Given the description of an element on the screen output the (x, y) to click on. 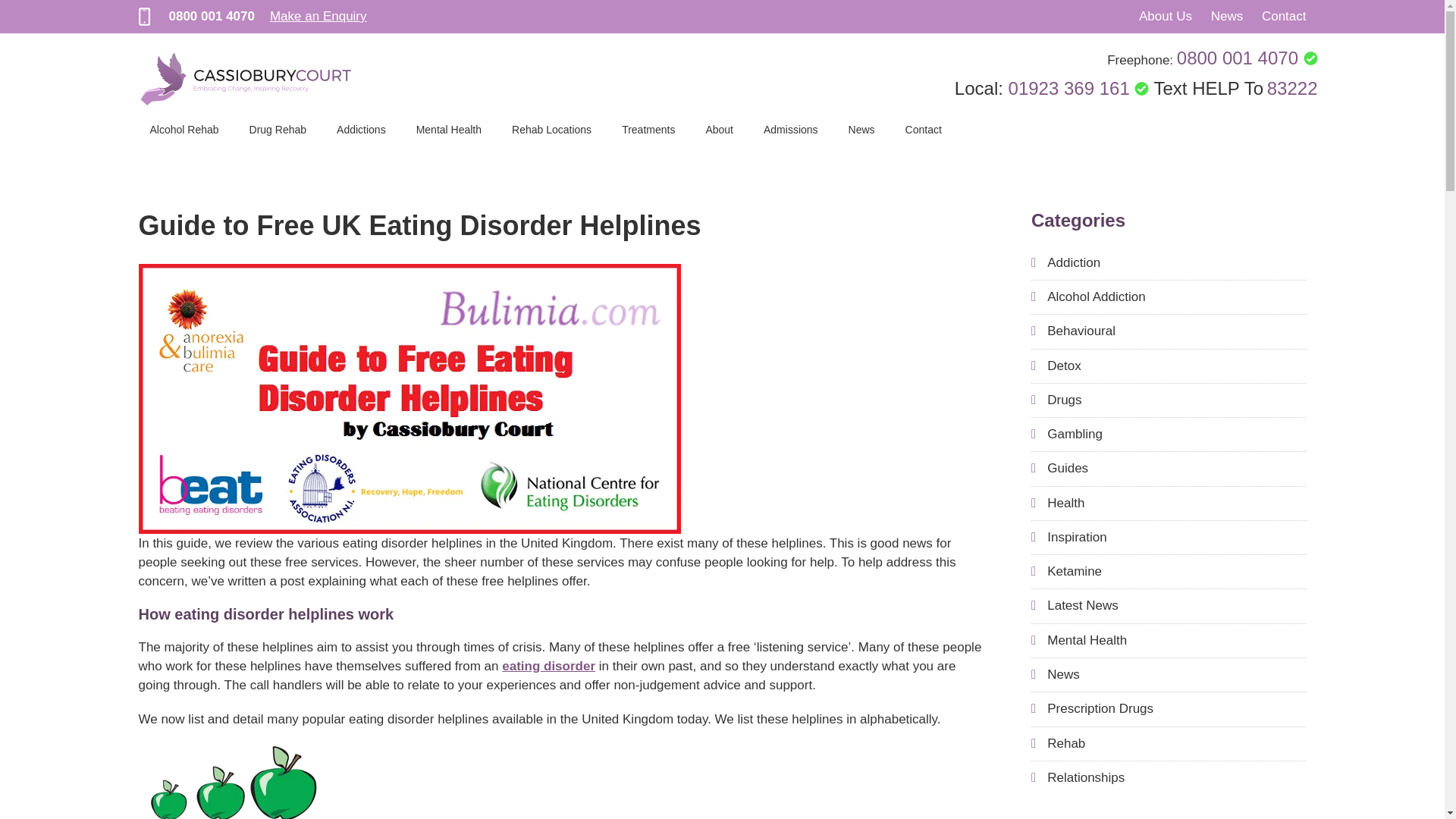
Contact (1284, 16)
News (1227, 16)
Alcohol Rehab (184, 128)
About Us (1165, 16)
01923 369 161 (1079, 87)
0800 001 4070 (210, 16)
0800 001 4070 (1246, 57)
Make an Enquiry (317, 16)
Cassiobury Court (245, 79)
83222 (1291, 87)
